Given the description of an element on the screen output the (x, y) to click on. 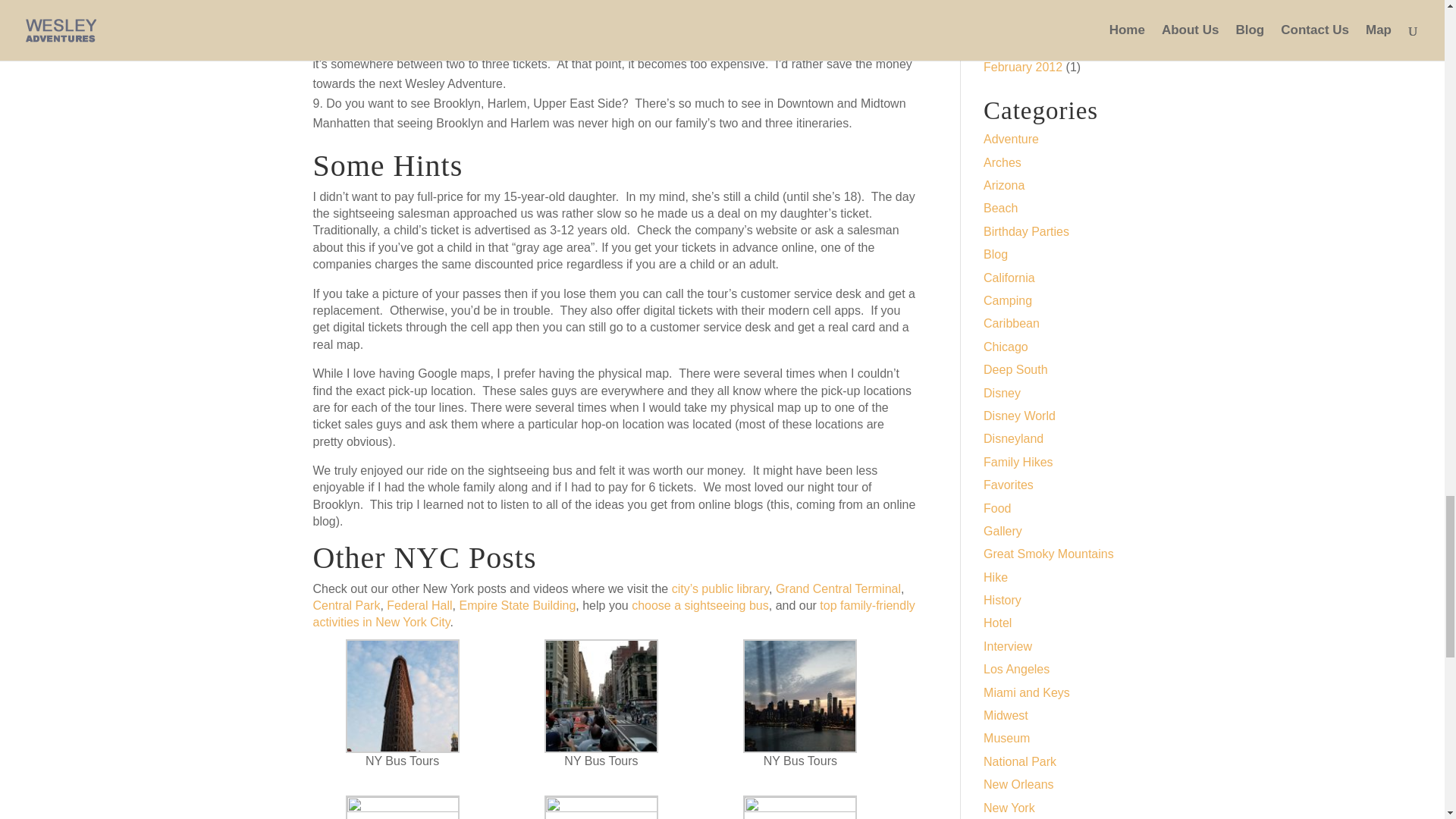
Grand Central Terminal (838, 588)
Federal Hall (419, 604)
Central Park (346, 604)
choose a sightseeing bus (699, 604)
top family-friendly activities in New York City (613, 613)
Empire State Building (516, 604)
